Given the description of an element on the screen output the (x, y) to click on. 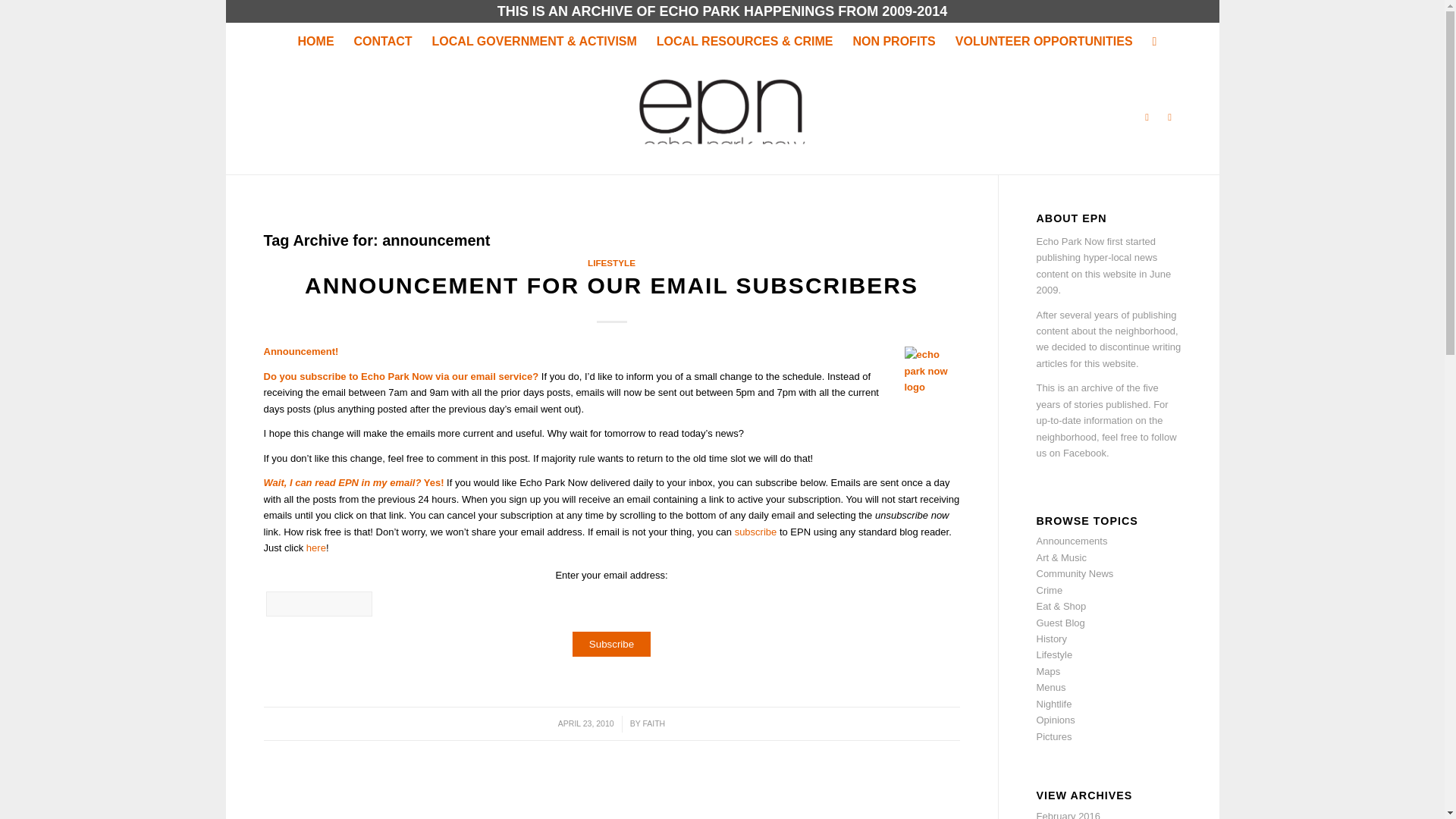
epn (931, 374)
NON PROFITS (893, 41)
Subscribe (611, 643)
Permanent Link: Announcement For Our Email Subscribers (611, 285)
ANNOUNCEMENT FOR OUR EMAIL SUBSCRIBERS (611, 285)
LIFESTYLE (611, 262)
CONTACT (382, 41)
Posts by Faith (653, 723)
FAITH (653, 723)
here (315, 547)
Subscribe (611, 643)
HOME (315, 41)
subscribe (756, 531)
